Given the description of an element on the screen output the (x, y) to click on. 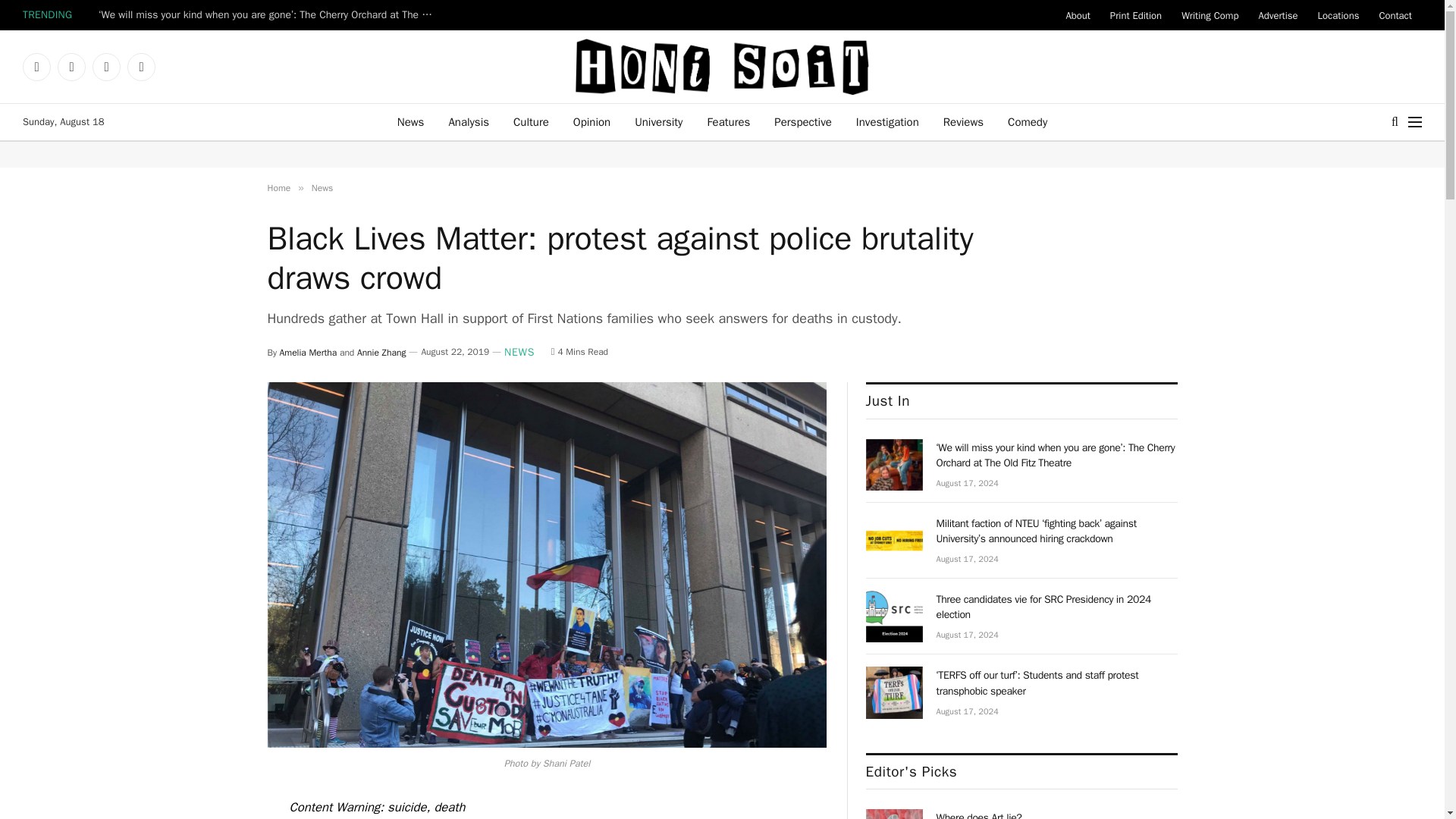
Home (277, 187)
Analysis (467, 122)
Culture (530, 122)
Advertise (1277, 15)
Honi Soit (722, 66)
Opinion (591, 122)
Posts by Amelia Mertha (308, 351)
Contact (1395, 15)
Locations (1338, 15)
About (1077, 15)
